Given the description of an element on the screen output the (x, y) to click on. 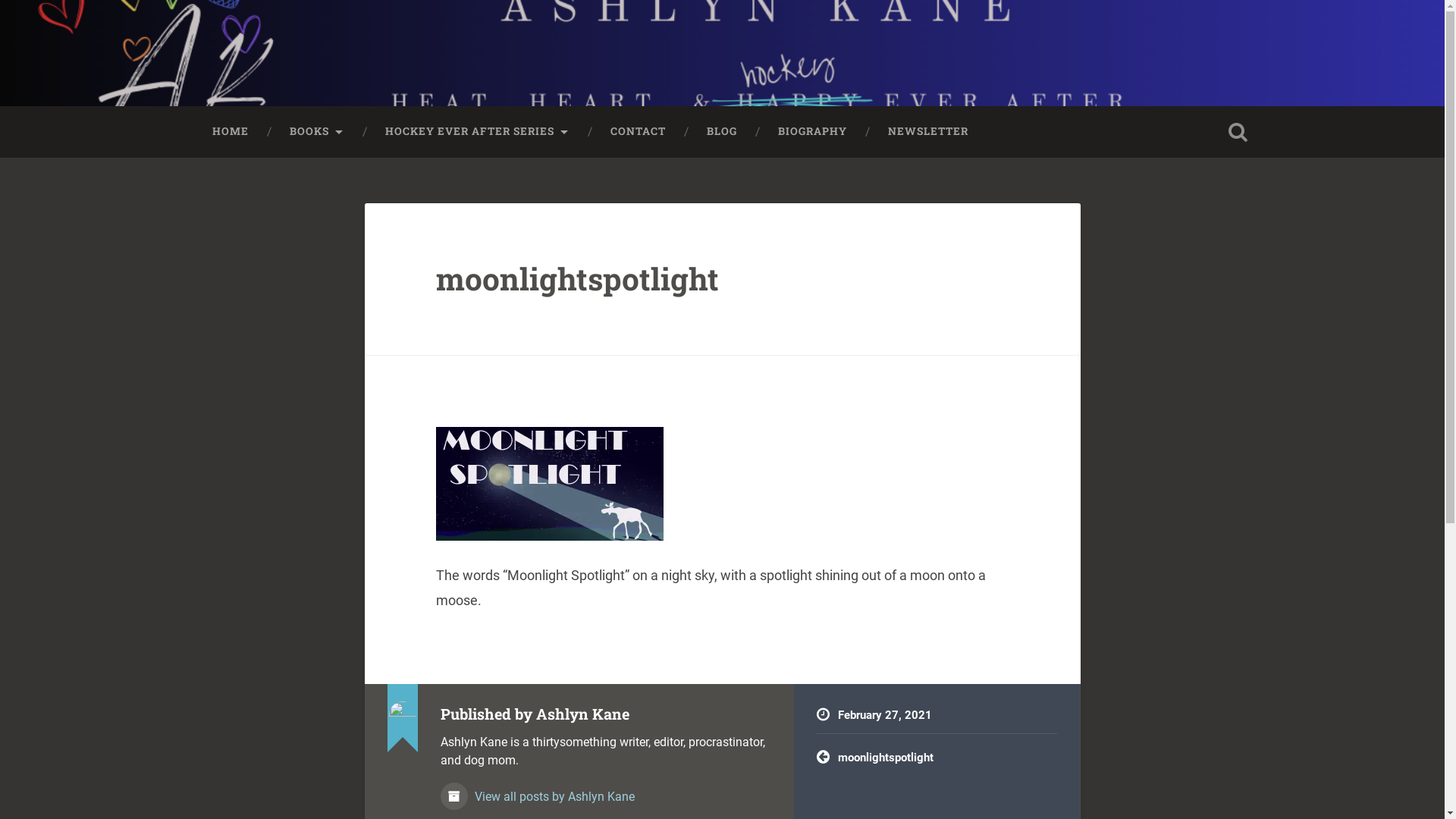
Open Search Element type: text (1237, 131)
HOCKEY EVER AFTER SERIES Element type: text (476, 131)
moonlightspotlight Element type: text (577, 278)
CONTACT Element type: text (637, 131)
Ashlyn Kane Element type: text (277, 67)
NEWSLETTER Element type: text (927, 131)
BIOGRAPHY Element type: text (811, 131)
moonlightspotlight Element type: text (936, 757)
View all posts by Ashlyn Kane Element type: text (604, 788)
BLOG Element type: text (720, 131)
BOOKS Element type: text (316, 131)
HOME Element type: text (229, 131)
